Given the description of an element on the screen output the (x, y) to click on. 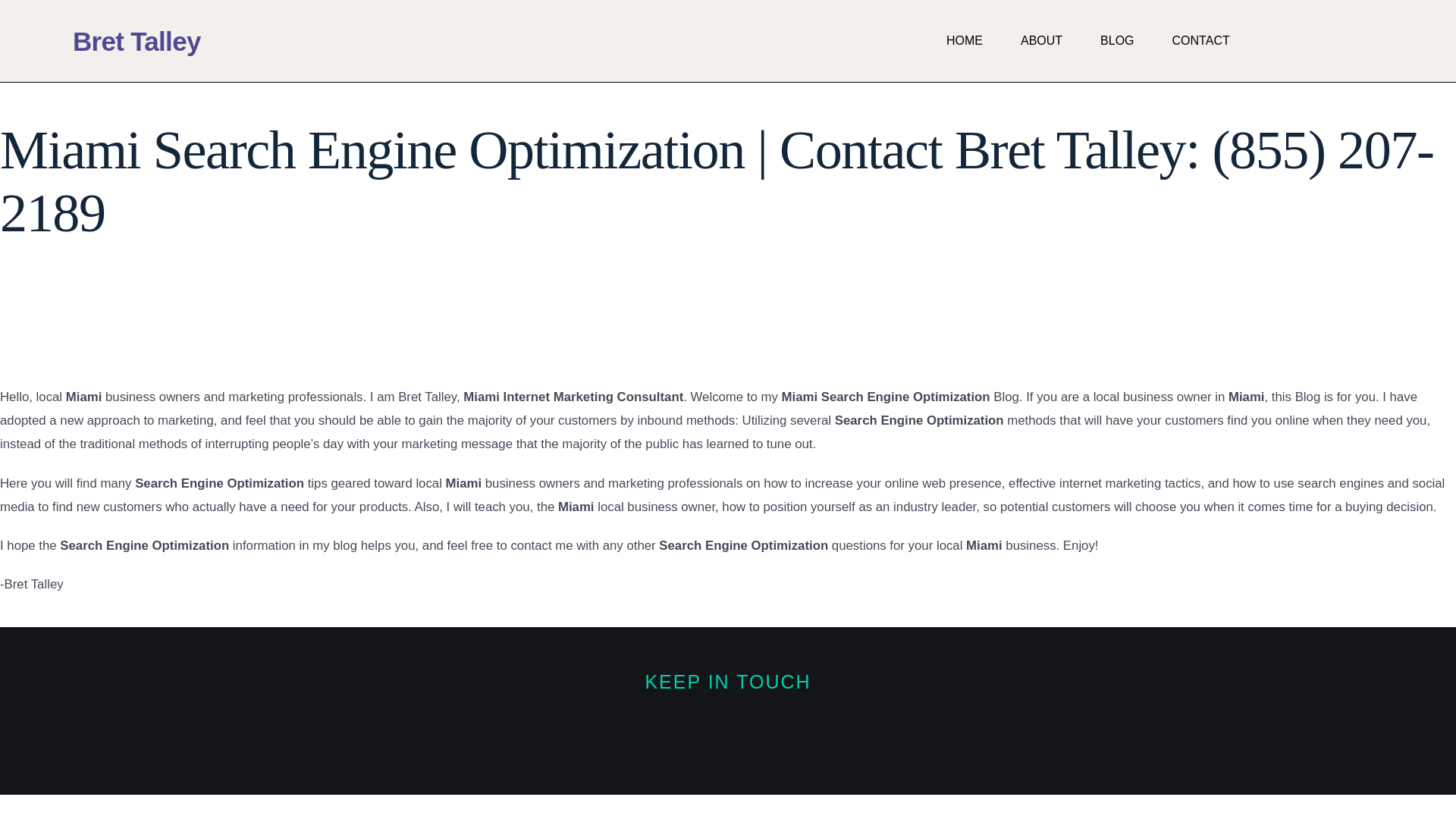
HOME (964, 40)
enter-blog (90, 611)
ABOUT (1041, 40)
bret-picture (64, 326)
CONTACT (1201, 40)
BLOG (1117, 40)
